Given the description of an element on the screen output the (x, y) to click on. 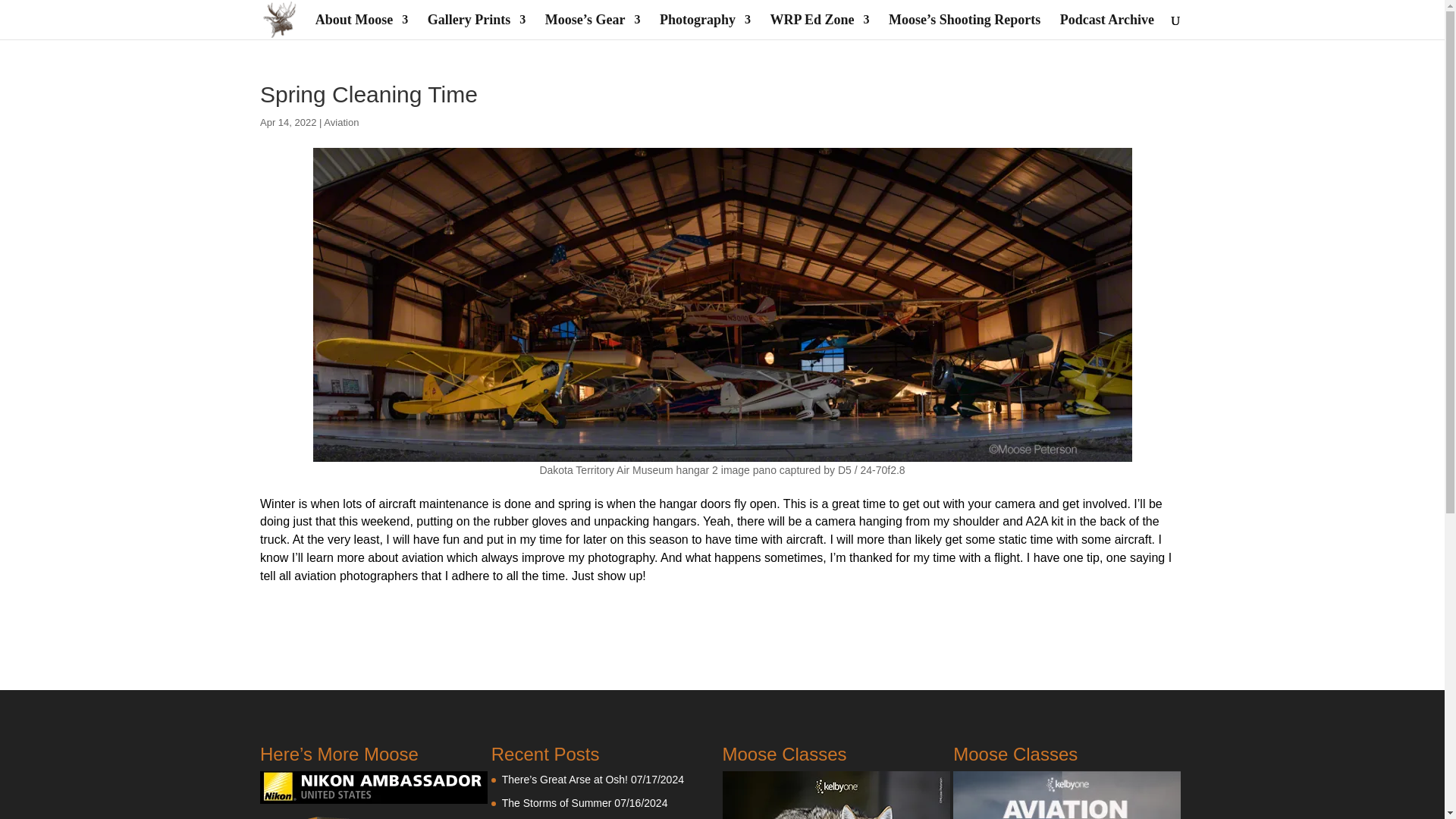
Podcast Archive (1106, 26)
WRP Ed Zone (819, 26)
The Storms of Summer (556, 802)
Aviation (340, 122)
About Moose (362, 26)
Gallery Prints (476, 26)
Photography (705, 26)
